Given the description of an element on the screen output the (x, y) to click on. 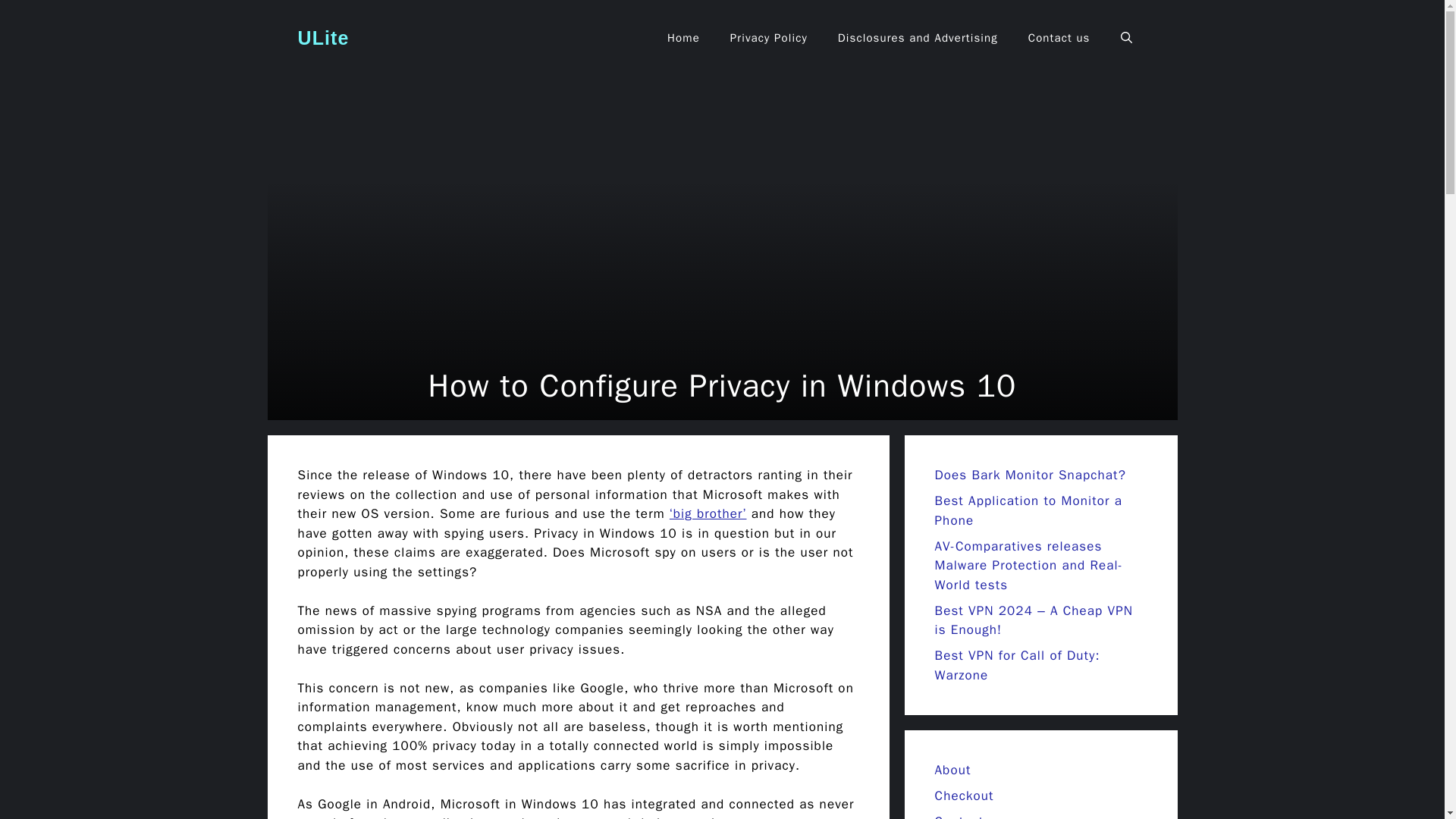
Best Application to Monitor a Phone (1027, 510)
Does Bark Monitor Snapchat? (1029, 474)
Contact us (1059, 37)
Home (683, 37)
Contact (959, 816)
About (952, 770)
Privacy Policy (768, 37)
Disclosures and Advertising (917, 37)
ULite (323, 37)
